Given the description of an element on the screen output the (x, y) to click on. 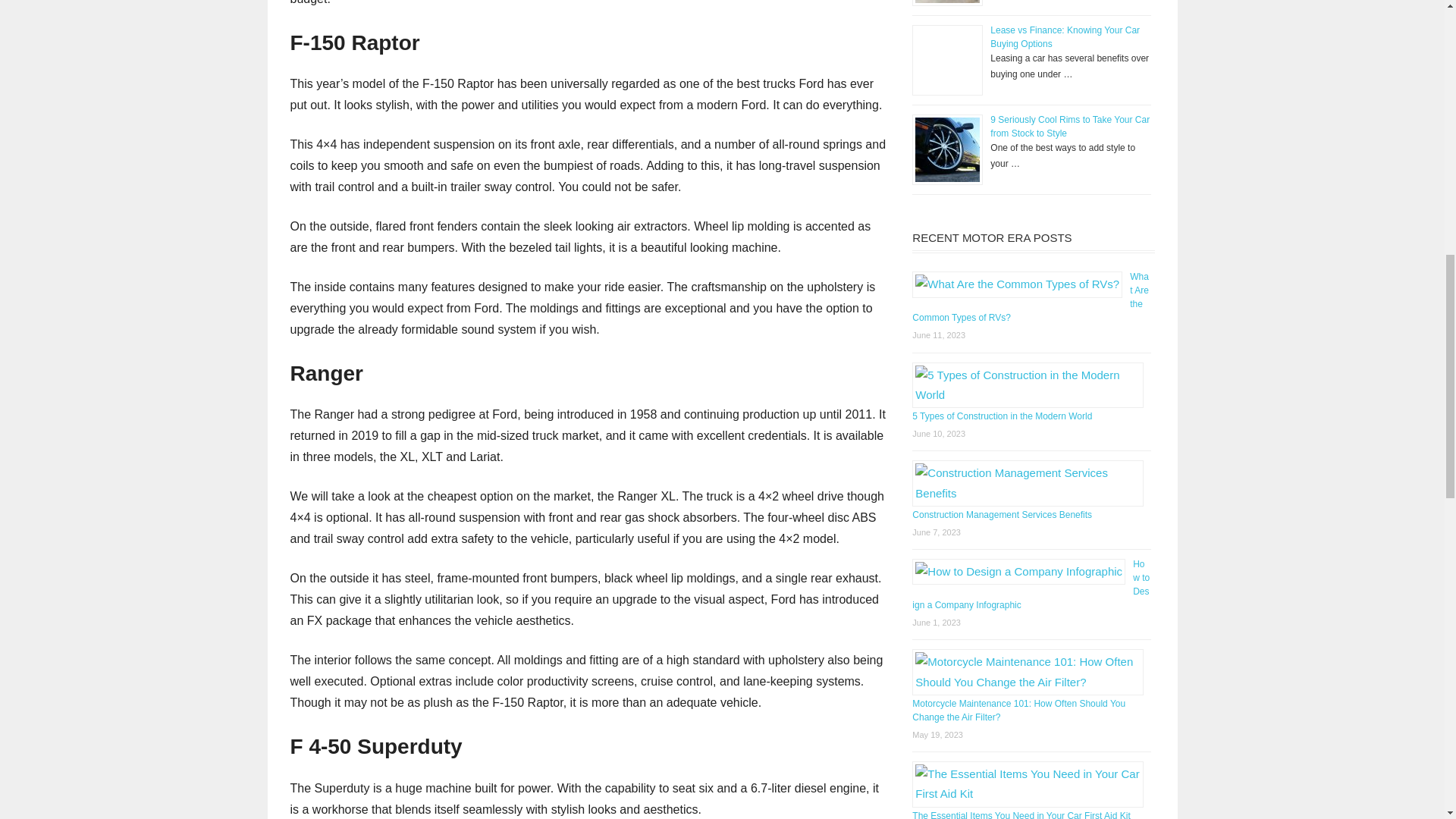
Permalink to 5 Types of Construction in the Modern World (1002, 416)
Construction Management Services Benefits (1002, 514)
Permalink to How to Design a Company Infographic (1031, 584)
9 Seriously Cool Rims to Take Your Car from Stock to Style (1070, 126)
Permalink to What Are the Common Types of RVs? (1030, 296)
5 Types of Construction in the Modern World (1002, 416)
Permalink to Construction Management Services Benefits (1002, 514)
What Are the Common Types of RVs? (1030, 296)
Lease vs Finance: Knowing Your Car Buying Options (1065, 37)
